Given the description of an element on the screen output the (x, y) to click on. 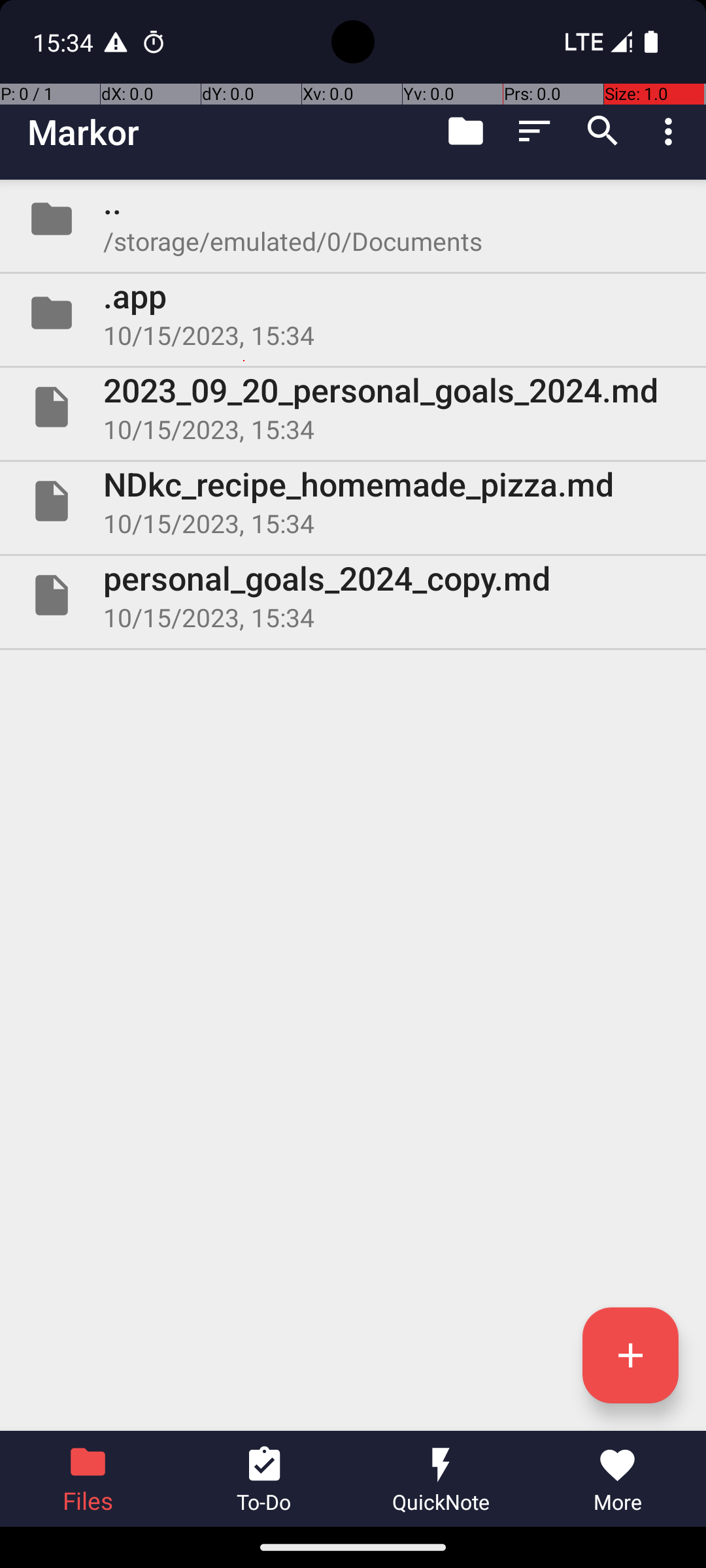
Folder .app  Element type: android.widget.LinearLayout (353, 312)
File 2023_09_20_personal_goals_2024.md  Element type: android.widget.LinearLayout (353, 406)
File NDkc_recipe_homemade_pizza.md  Element type: android.widget.LinearLayout (353, 500)
File personal_goals_2024_copy.md  Element type: android.widget.LinearLayout (353, 594)
